Given the description of an element on the screen output the (x, y) to click on. 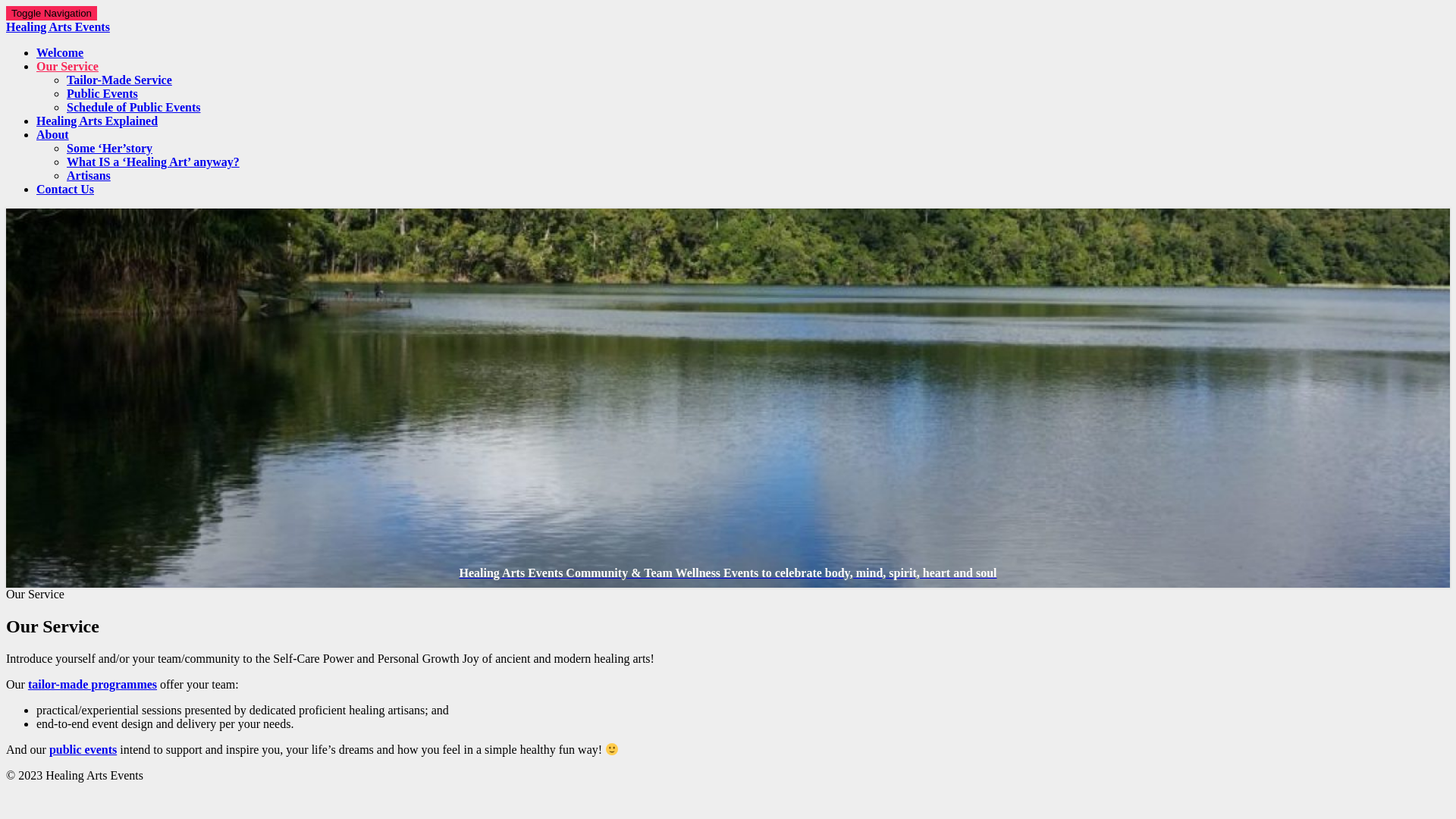
Schedule of Public Events Element type: text (133, 106)
tailor-made programmes Element type: text (92, 683)
Healing Arts Events Element type: text (727, 34)
Toggle Navigation Element type: text (51, 13)
About Element type: text (52, 134)
Healing Arts Explained Element type: text (96, 120)
Tailor-Made Service Element type: text (119, 79)
Contact Us Element type: text (65, 188)
Artisans Element type: text (88, 175)
Welcome Element type: text (59, 52)
Public Events Element type: text (102, 93)
public events Element type: text (82, 749)
Our Service Element type: text (67, 65)
